Given the description of an element on the screen output the (x, y) to click on. 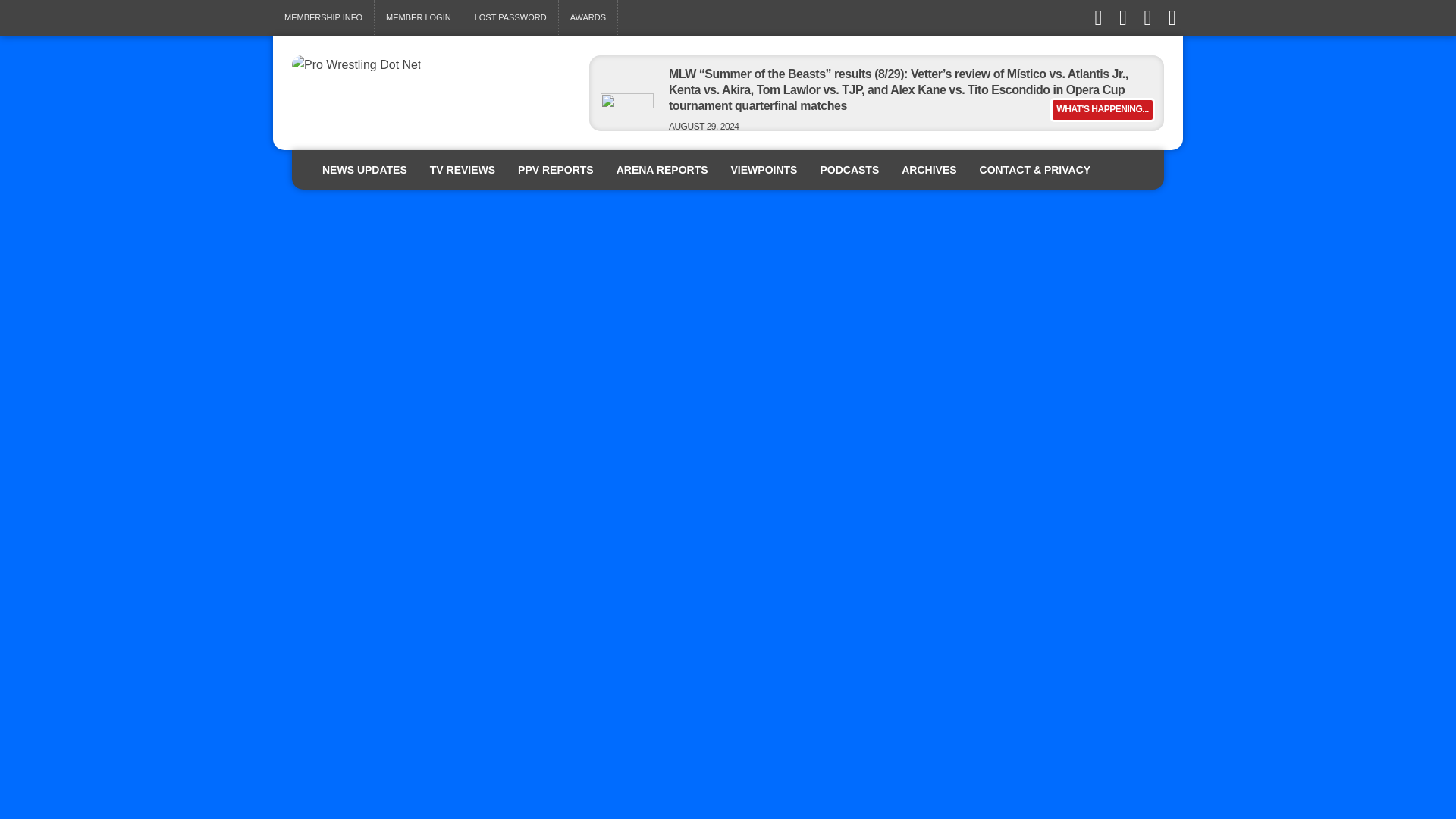
Pro Wrestling Dot Net (430, 65)
MEMBER LOGIN (418, 18)
LOST PASSWORD (510, 18)
NEWS UPDATES (365, 169)
AWARDS (588, 18)
TV REVIEWS (462, 169)
MEMBERSHIP INFO (323, 18)
